Given the description of an element on the screen output the (x, y) to click on. 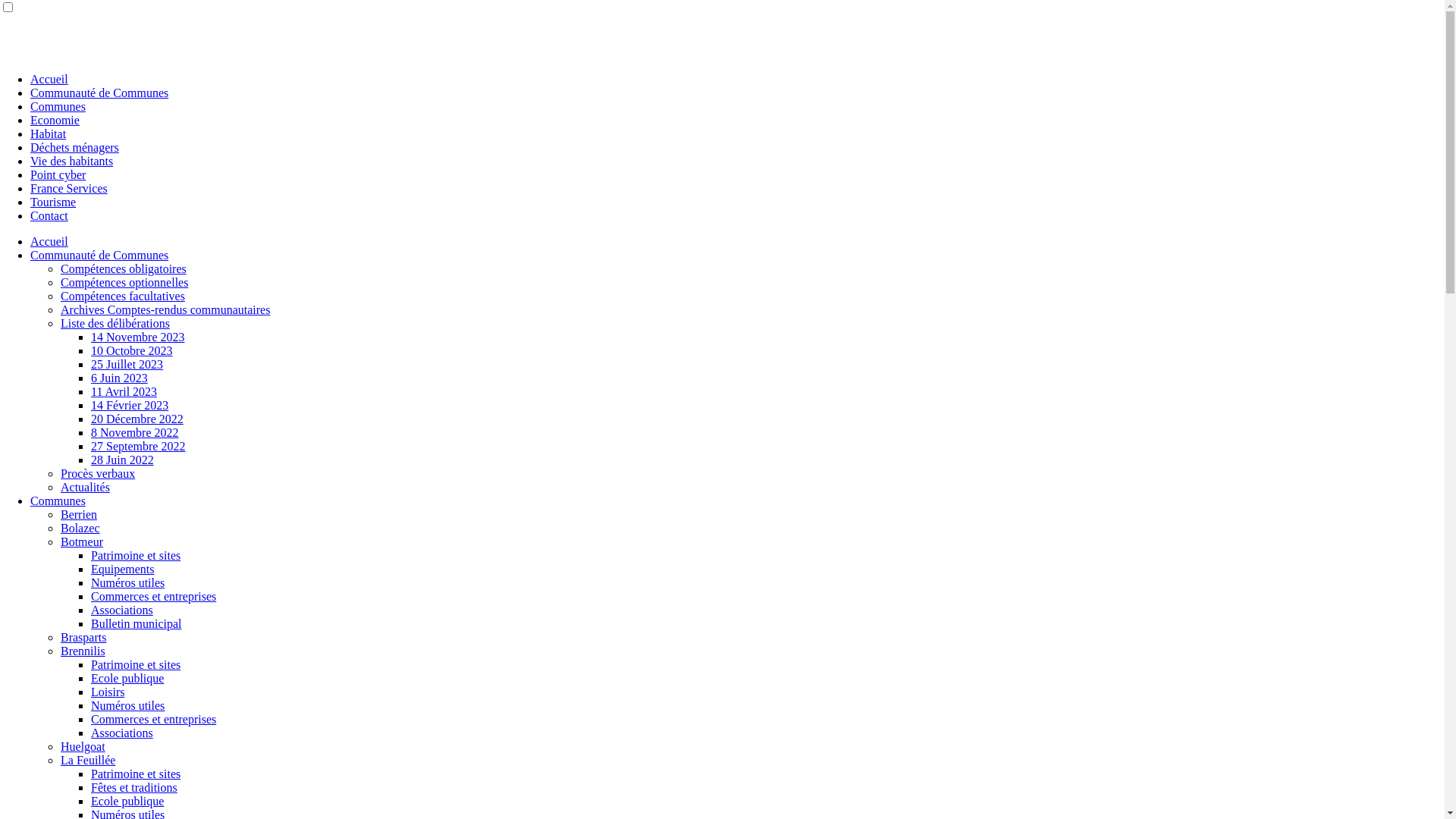
25 Juillet 2023 Element type: text (127, 363)
28 Juin 2022 Element type: text (122, 459)
Point cyber Element type: text (57, 174)
Berrien Element type: text (78, 514)
Accueil Element type: text (49, 78)
Tourisme Element type: text (52, 201)
Patrimoine et sites Element type: text (135, 664)
11 Avril 2023 Element type: text (123, 391)
Botmeur Element type: text (81, 541)
8 Novembre 2022 Element type: text (134, 432)
Contact Element type: text (49, 215)
Associations Element type: text (122, 609)
Equipements Element type: text (122, 568)
Associations Element type: text (122, 732)
Patrimoine et sites Element type: text (135, 555)
Patrimoine et sites Element type: text (135, 773)
Commerces et entreprises Element type: text (153, 718)
Bolazec Element type: text (80, 527)
10 Octobre 2023 Element type: text (131, 350)
France Services Element type: text (68, 188)
Archives Comptes-rendus communautaires Element type: text (164, 309)
27 Septembre 2022 Element type: text (138, 445)
Brasparts Element type: text (83, 636)
Loisirs Element type: text (107, 691)
Bulletin municipal Element type: text (136, 623)
Economie Element type: text (54, 119)
6 Juin 2023 Element type: text (119, 377)
Ecole publique Element type: text (127, 677)
Ecole publique Element type: text (127, 800)
Communes Element type: text (57, 106)
Accueil Element type: text (49, 241)
14 Novembre 2023 Element type: text (138, 336)
Communes Element type: text (57, 500)
Habitat Element type: text (47, 133)
Huelgoat Element type: text (82, 746)
Commerces et entreprises Element type: text (153, 595)
Brennilis Element type: text (82, 650)
Vie des habitants Element type: text (71, 160)
